Given the description of an element on the screen output the (x, y) to click on. 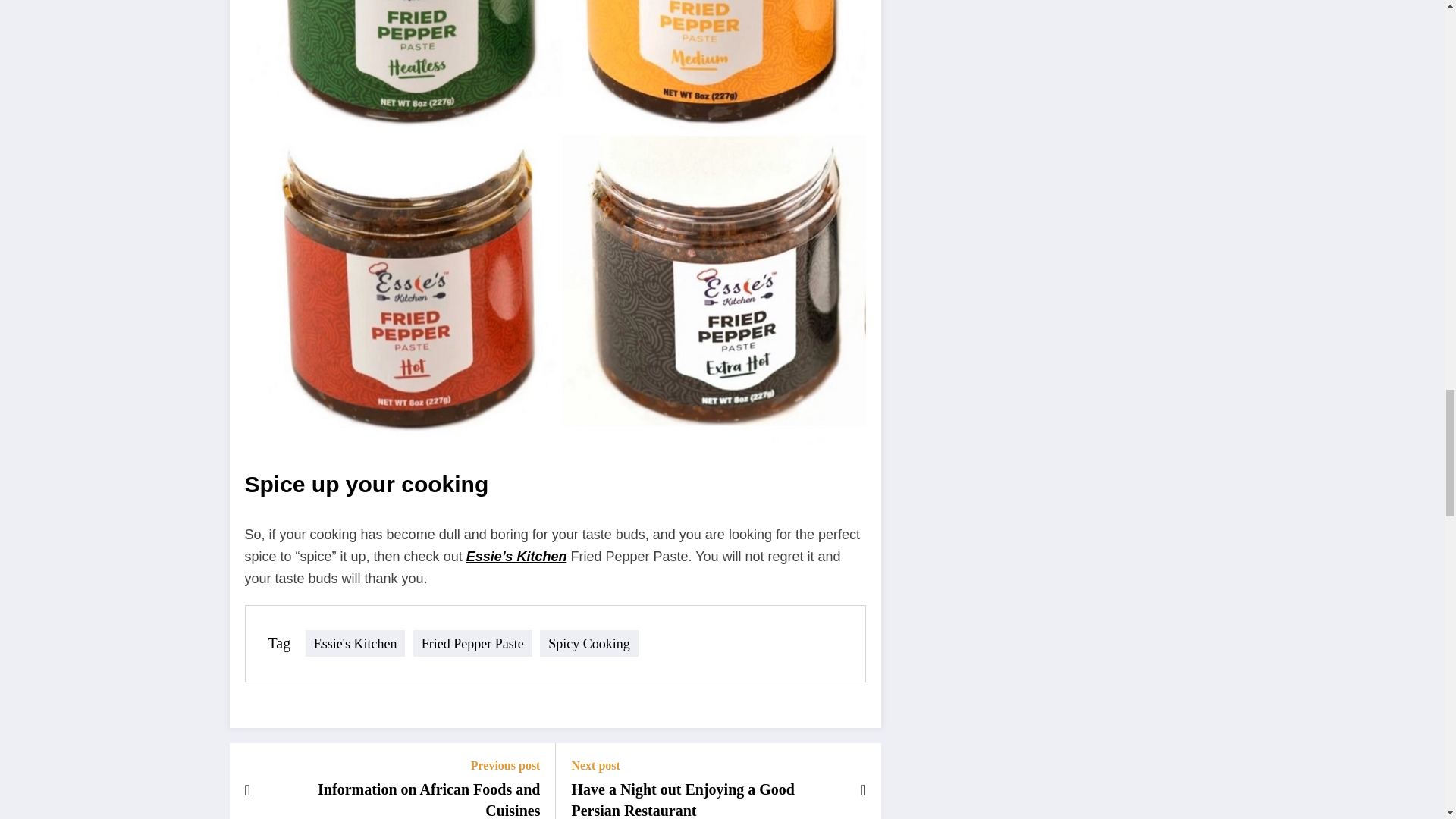
Previous post (403, 765)
